Given the description of an element on the screen output the (x, y) to click on. 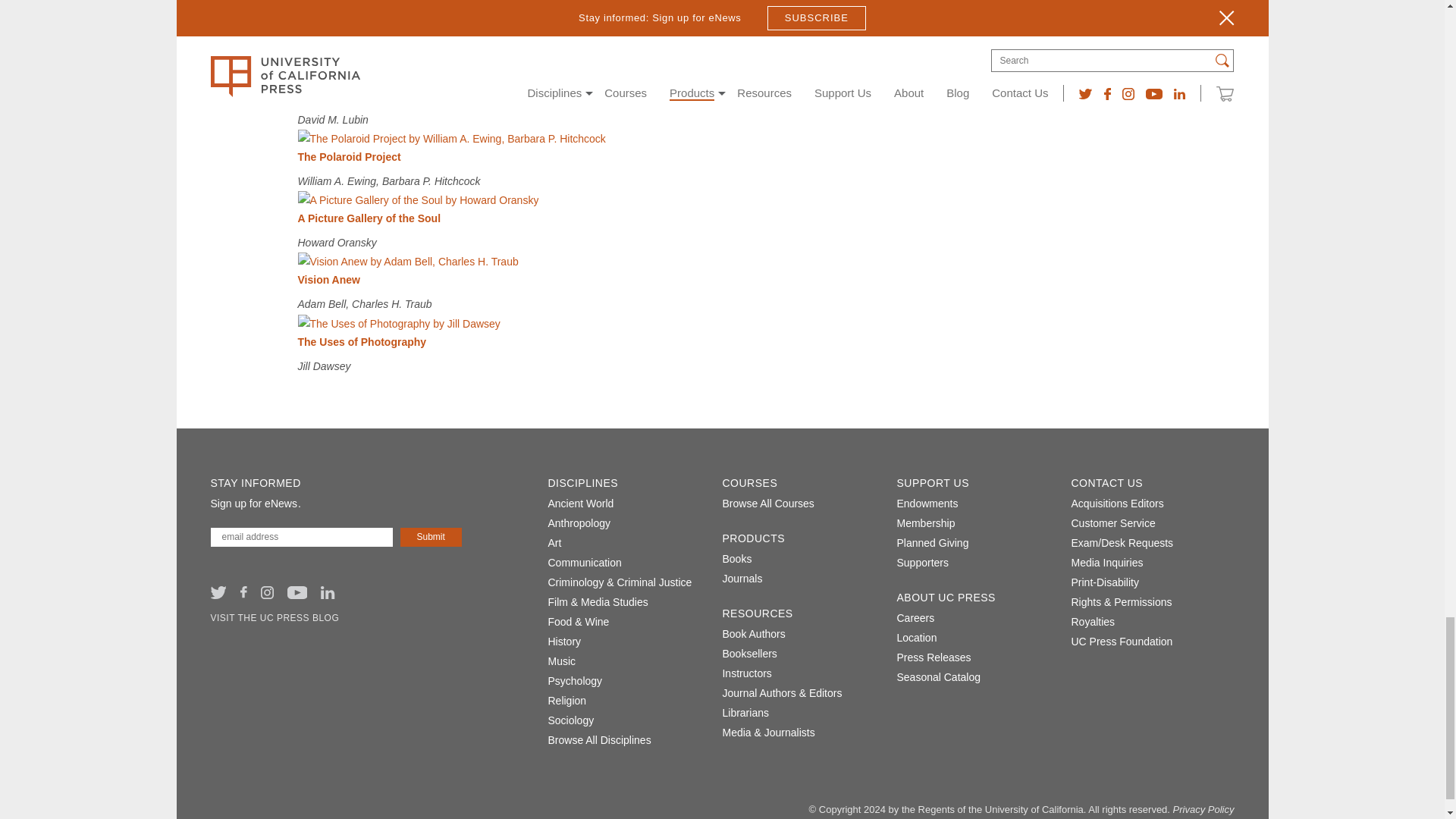
Submit (430, 537)
